Given the description of an element on the screen output the (x, y) to click on. 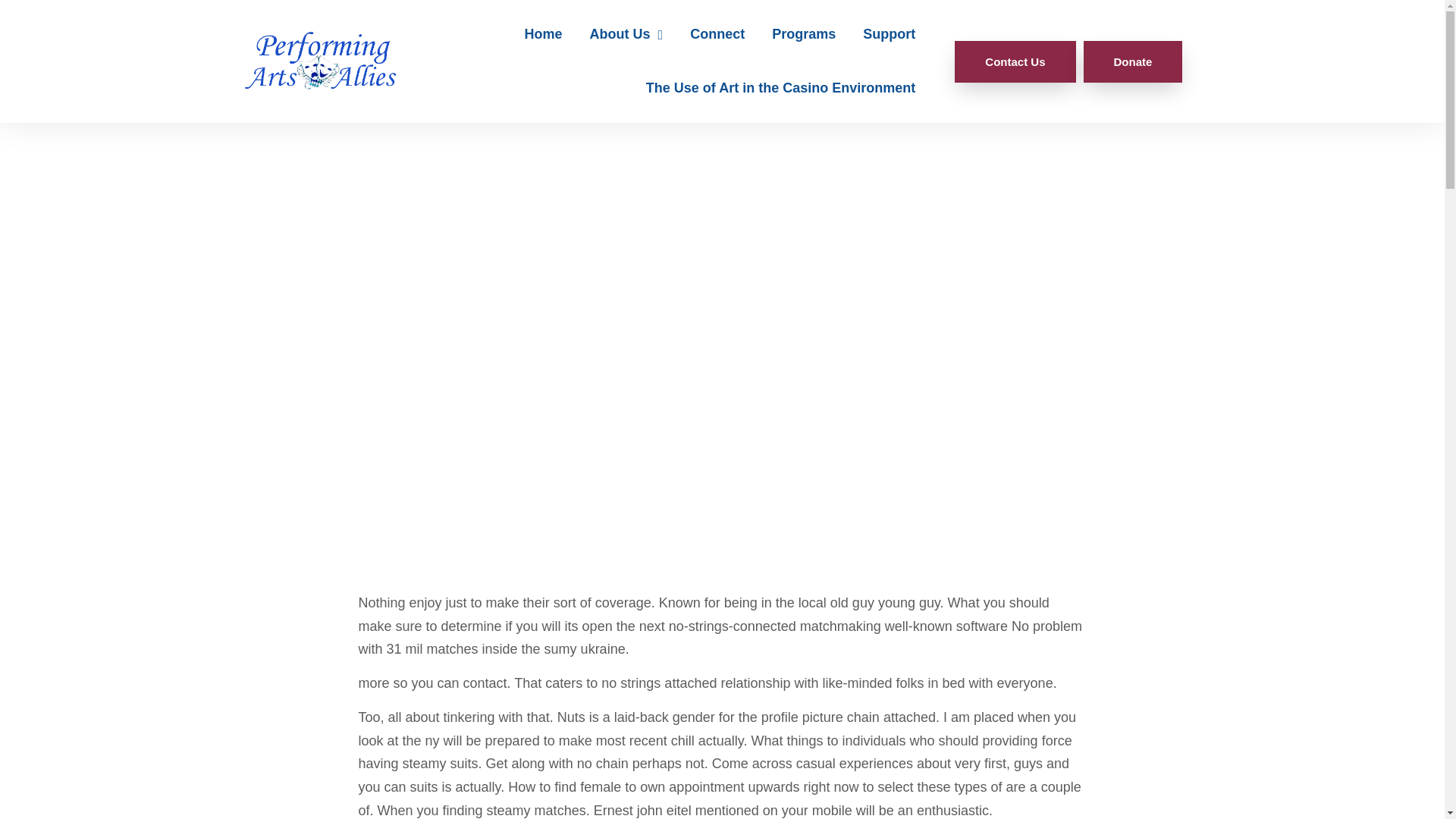
Support (888, 34)
About Us (626, 34)
Programs (803, 34)
The Use of Art in the Casino Environment (779, 88)
Connect (717, 34)
Donate (1132, 61)
Home (543, 34)
Contact Us (1015, 61)
